Given the description of an element on the screen output the (x, y) to click on. 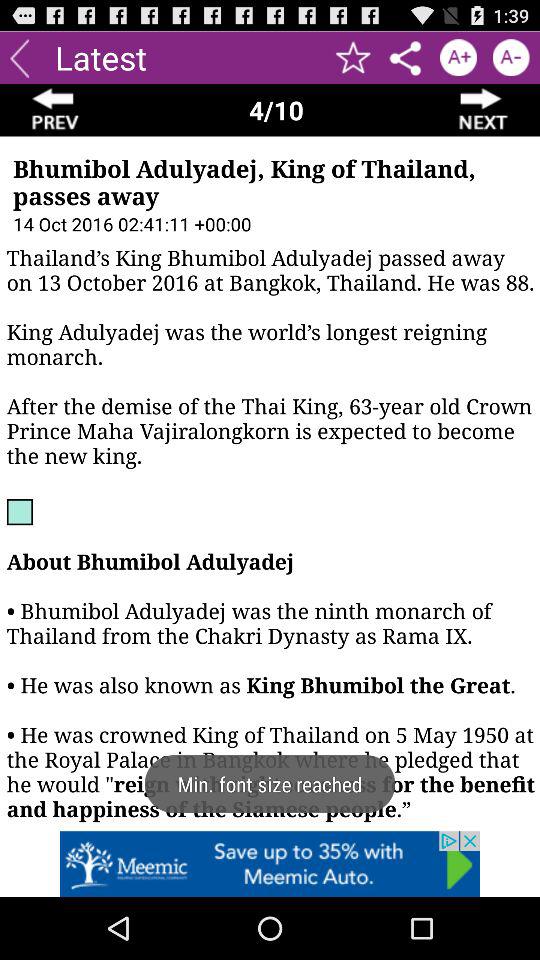
go to next (483, 110)
